Given the description of an element on the screen output the (x, y) to click on. 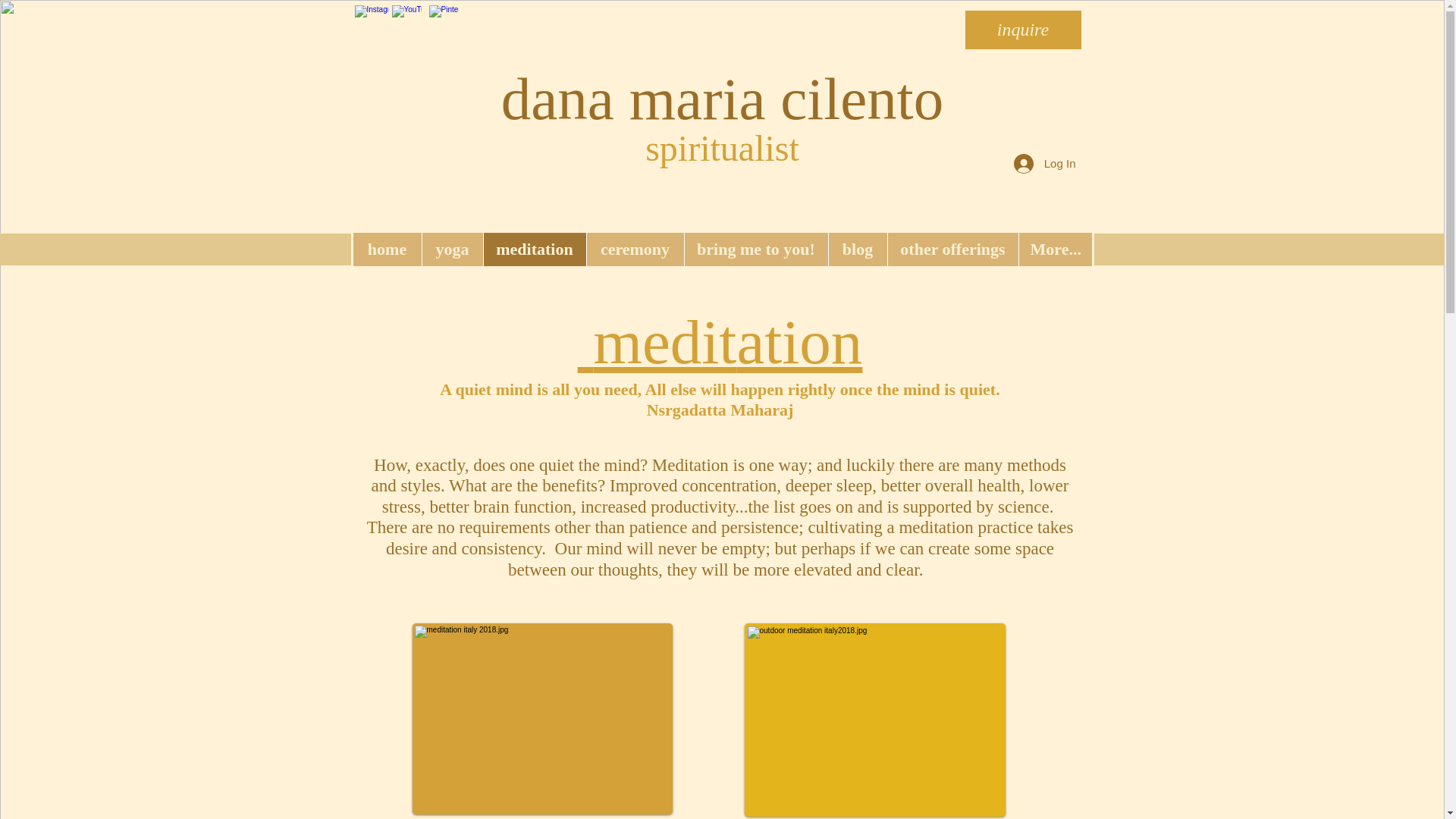
Log In (1044, 163)
ceremony (633, 249)
blog (857, 249)
inquire (1021, 29)
bring me to you! (756, 249)
other offerings (951, 249)
meditation (533, 249)
home (387, 249)
yoga (452, 249)
